Given the description of an element on the screen output the (x, y) to click on. 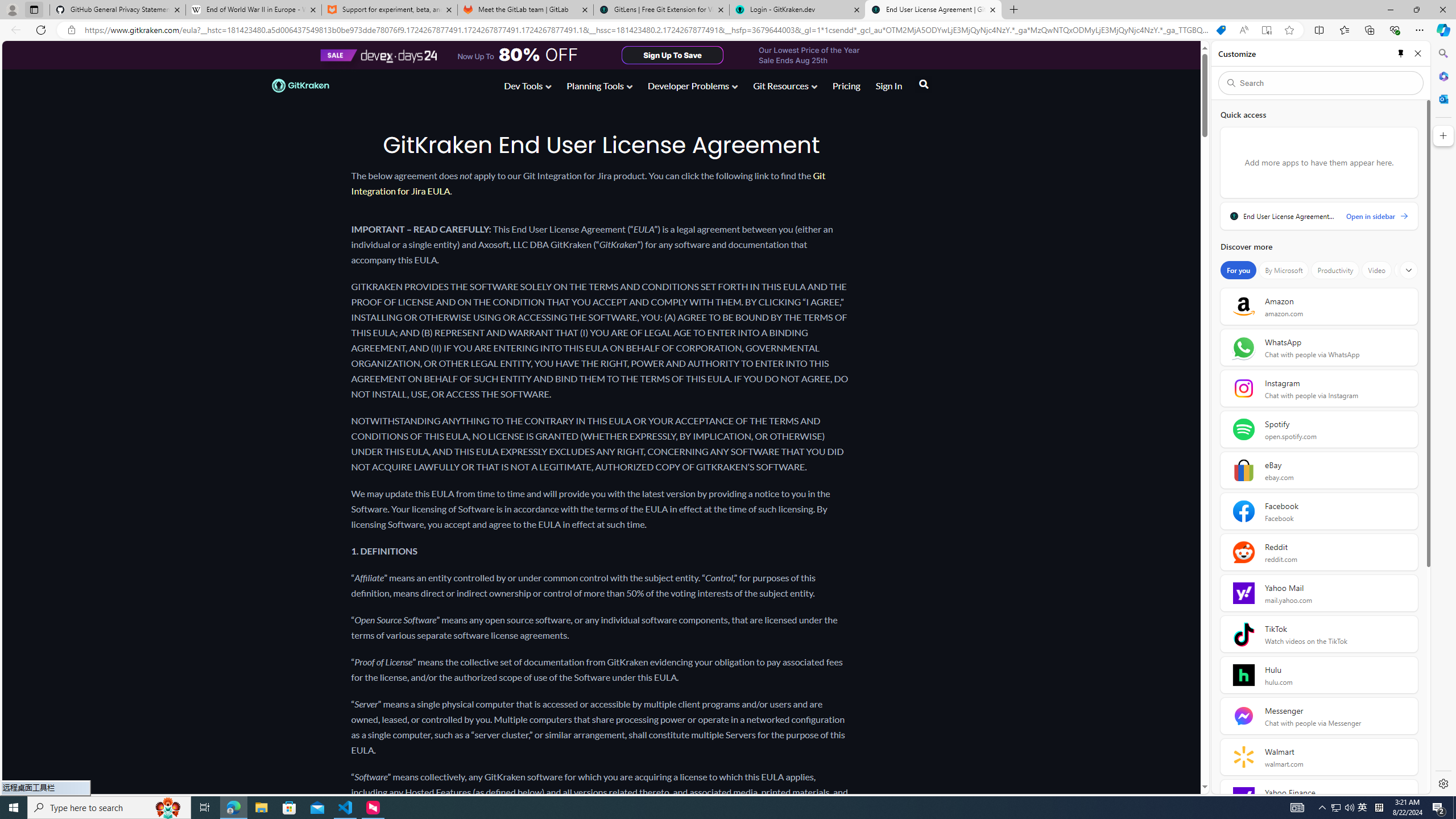
End of World War II in Europe - Wikipedia (253, 9)
By Microsoft (1282, 270)
Show more (1408, 270)
Sign Up To Save (672, 54)
GitHub General Privacy Statement - GitHub Docs (117, 9)
